Given the description of an element on the screen output the (x, y) to click on. 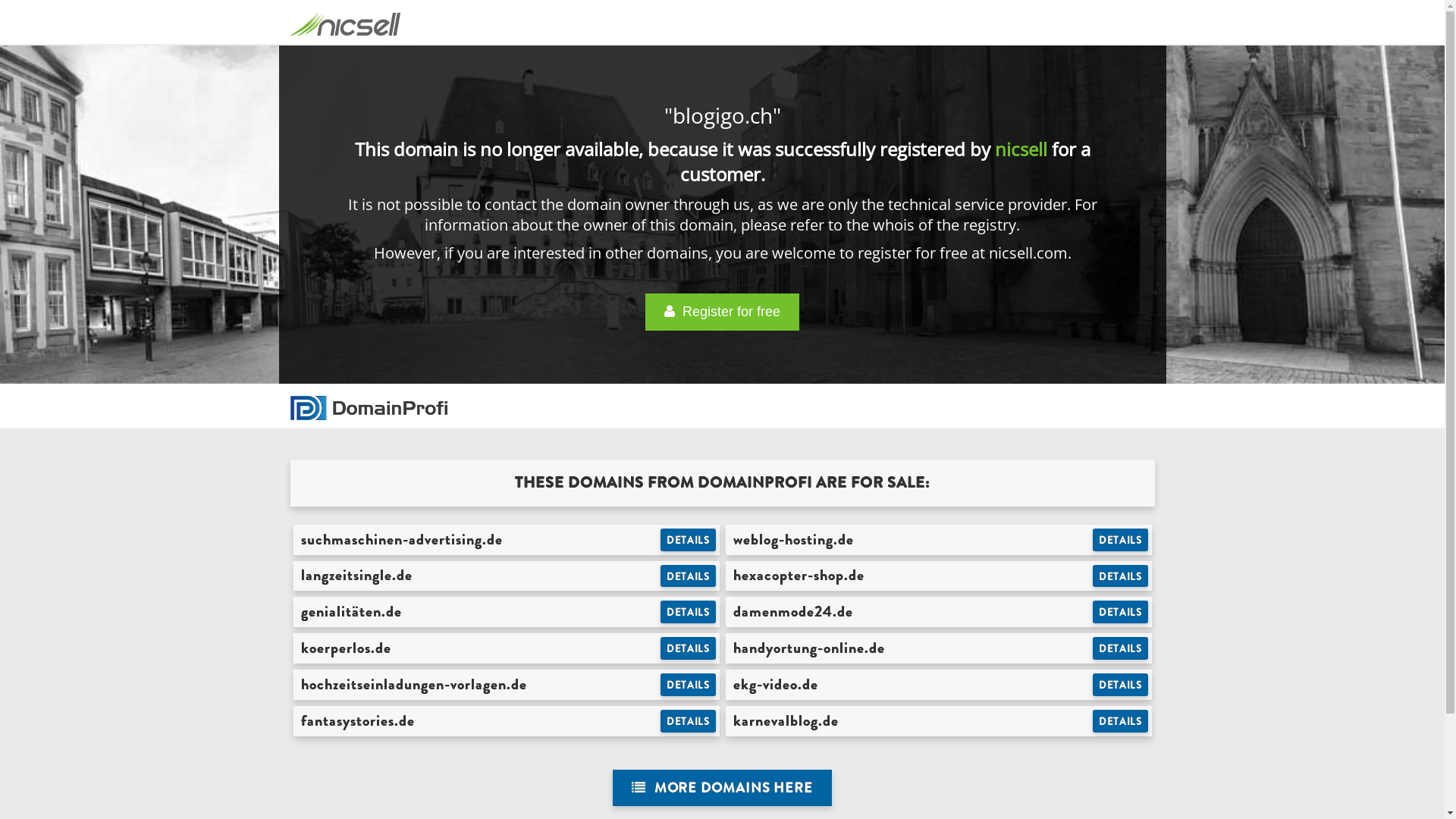
DETAILS Element type: text (1120, 684)
DETAILS Element type: text (687, 539)
DETAILS Element type: text (687, 720)
DETAILS Element type: text (687, 648)
DETAILS Element type: text (687, 611)
DETAILS Element type: text (687, 684)
DETAILS Element type: text (1120, 539)
DETAILS Element type: text (687, 575)
DETAILS Element type: text (1120, 720)
  MORE DOMAINS HERE Element type: text (721, 787)
DETAILS Element type: text (1120, 611)
  Register for free Element type: text (722, 311)
DETAILS Element type: text (1120, 575)
DETAILS Element type: text (1120, 648)
nicsell Element type: text (1020, 148)
